Given the description of an element on the screen output the (x, y) to click on. 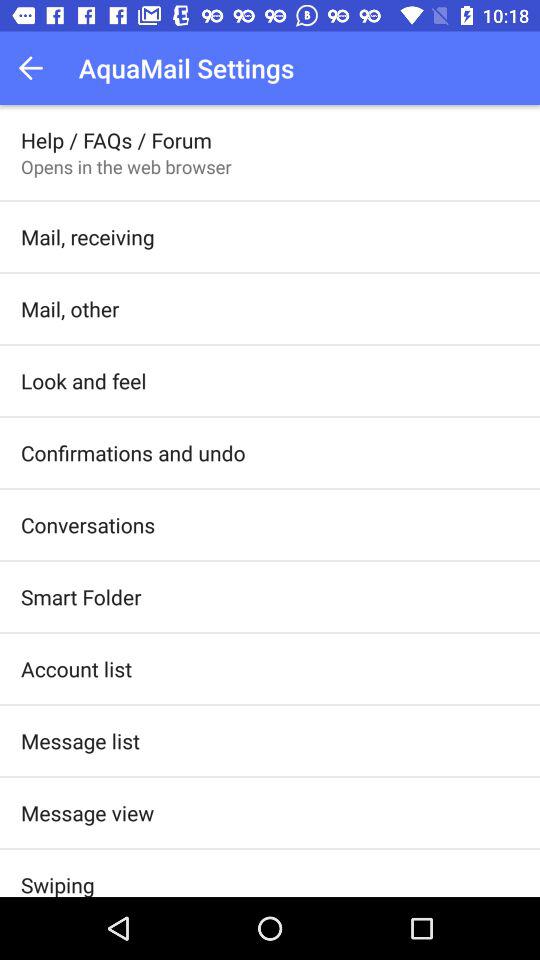
select app next to aquamail settings app (36, 68)
